Given the description of an element on the screen output the (x, y) to click on. 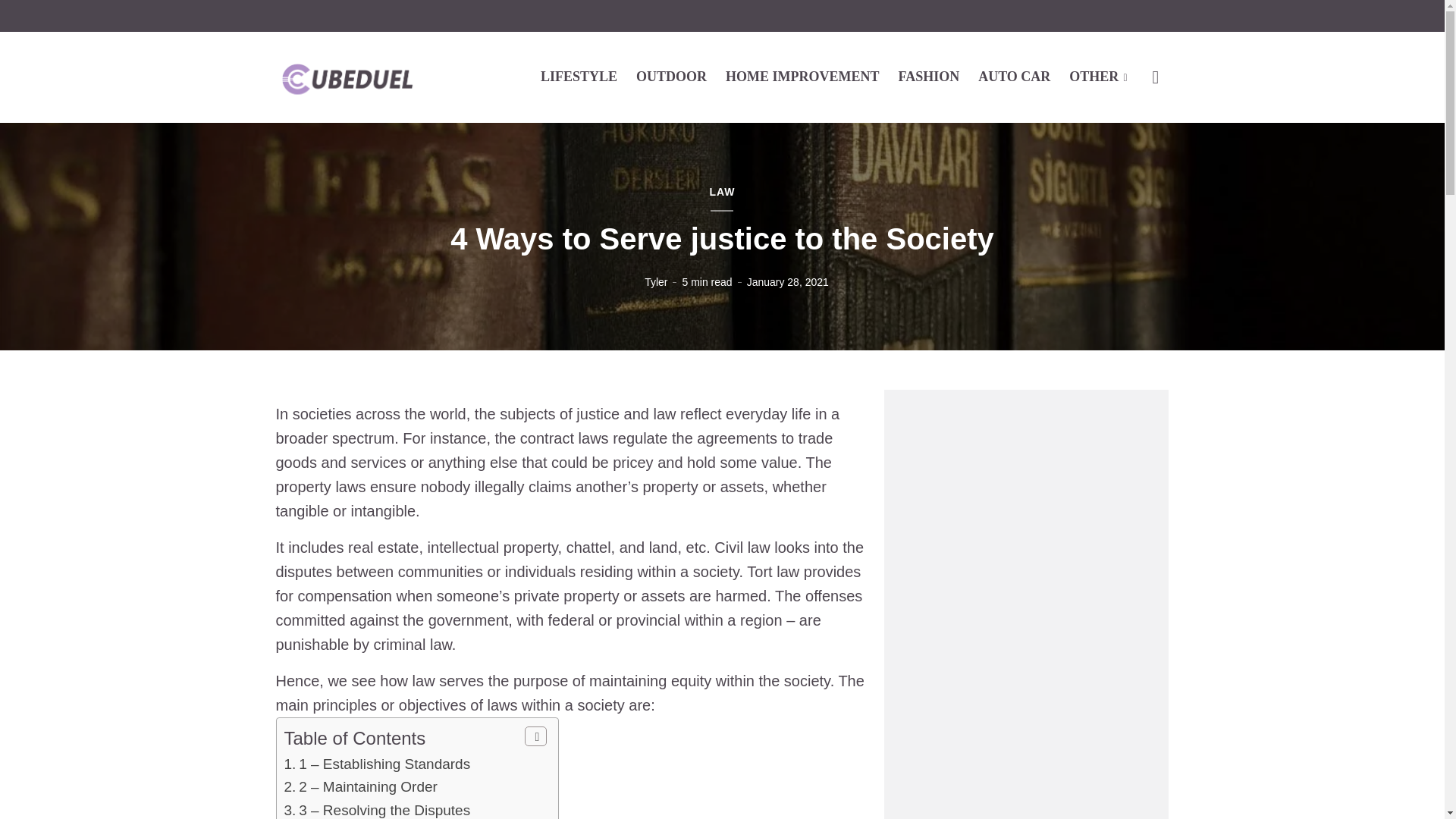
AUTO CAR (1013, 76)
FASHION (928, 76)
HOME IMPROVEMENT (802, 76)
OTHER (1097, 76)
OUTDOOR (671, 76)
LIFESTYLE (578, 76)
